Given the description of an element on the screen output the (x, y) to click on. 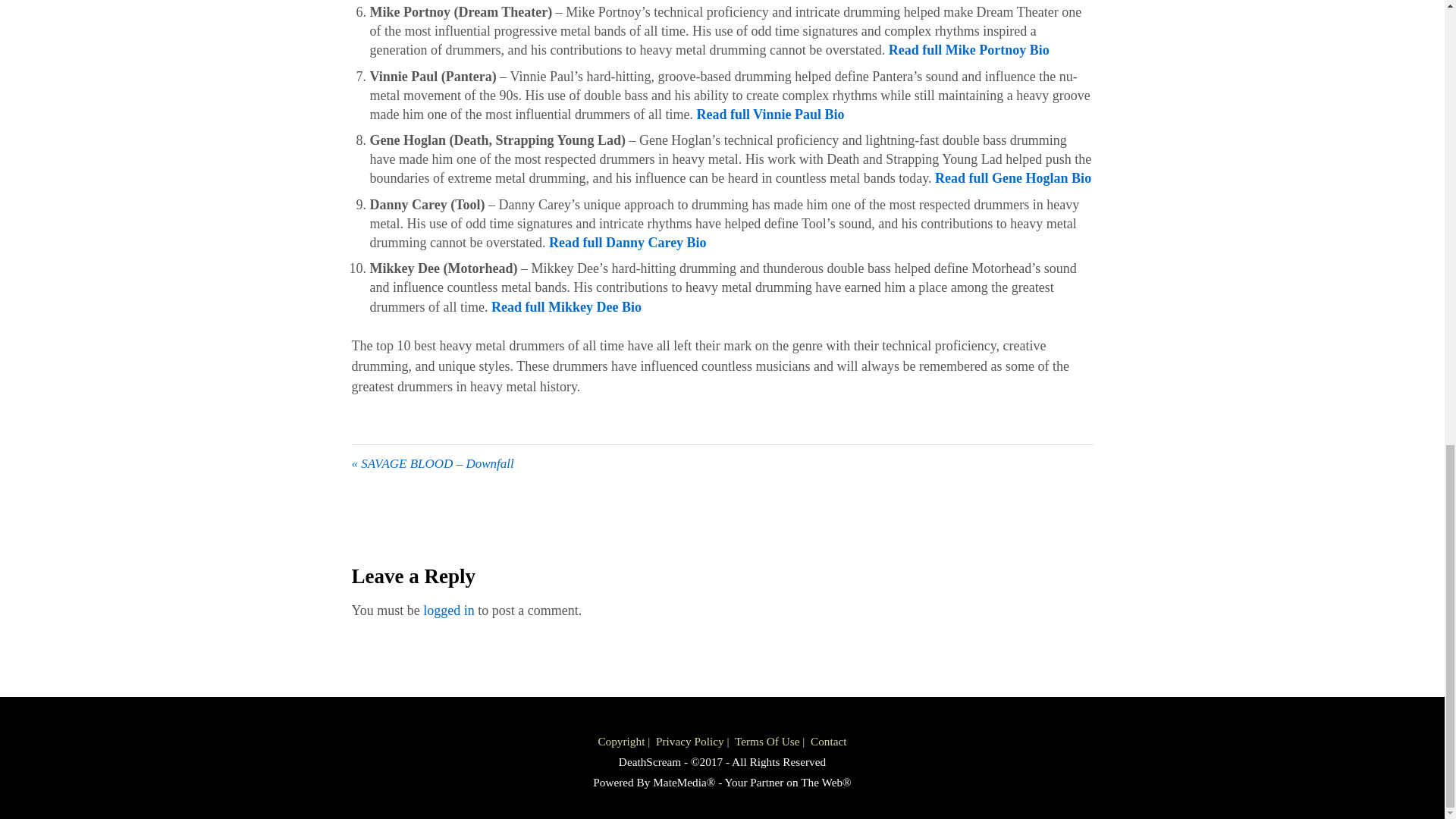
Read full Gene Hoglan Bio (1012, 177)
logged in (448, 610)
Read full Mike Portnoy Bio (968, 49)
Read full Vinnie Paul Bio (769, 114)
Read full Danny Carey Bio (627, 242)
Read full Mikkey Dee Bio (567, 306)
